Given the description of an element on the screen output the (x, y) to click on. 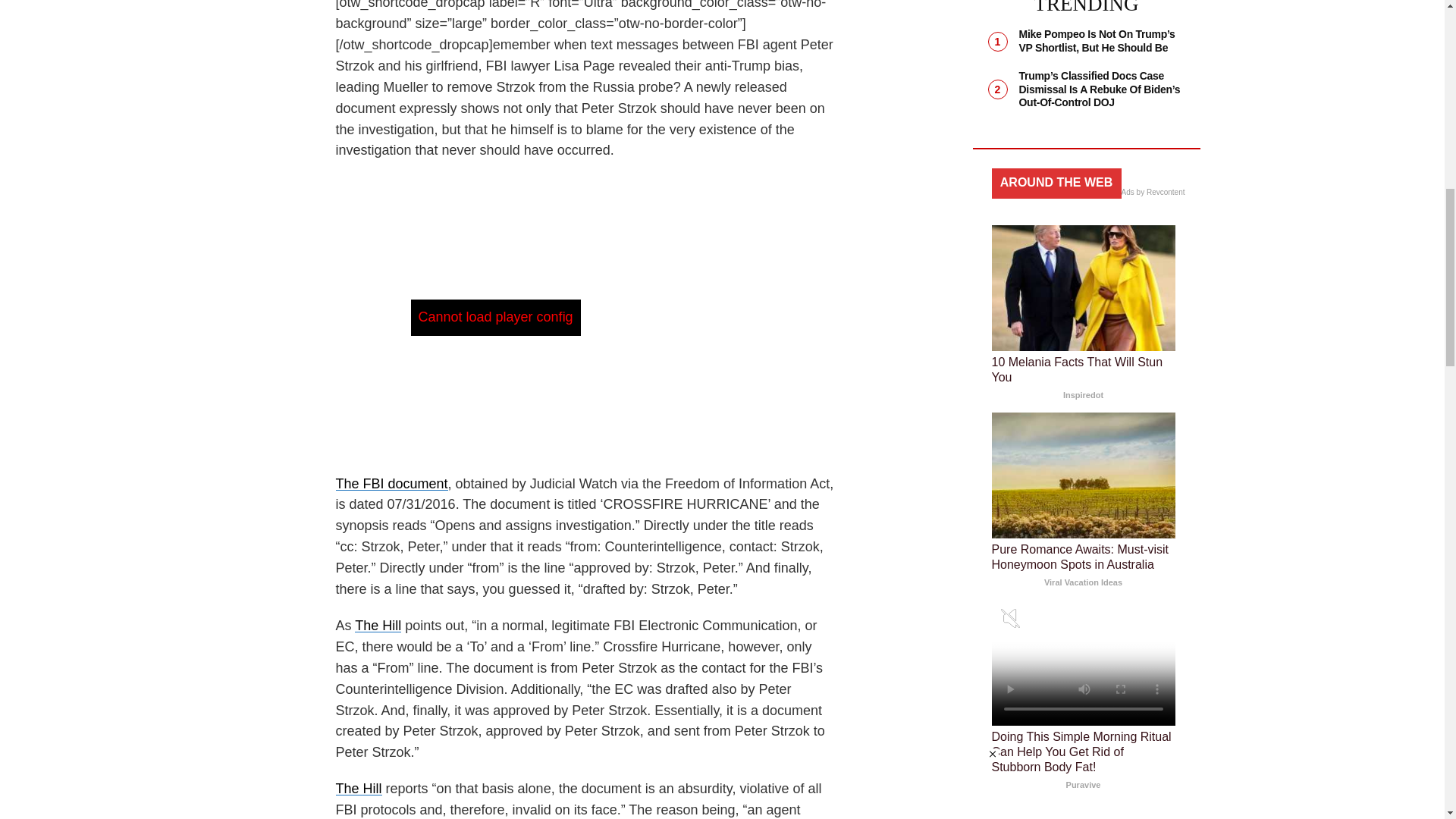
The FBI document (390, 483)
The Hill (378, 625)
The Hill (357, 788)
